Given the description of an element on the screen output the (x, y) to click on. 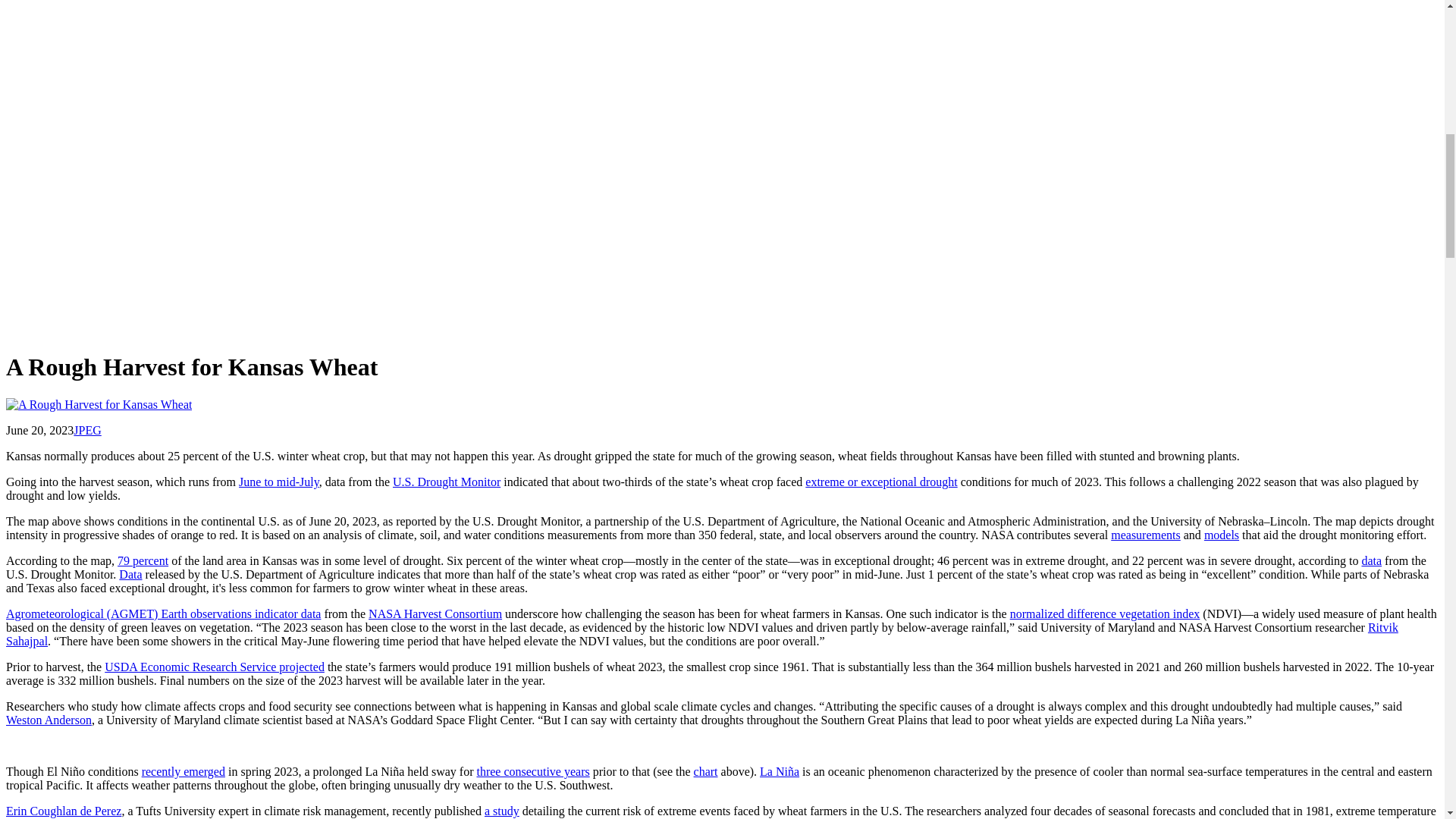
Print (510, 329)
Share (161, 329)
